Given the description of an element on the screen output the (x, y) to click on. 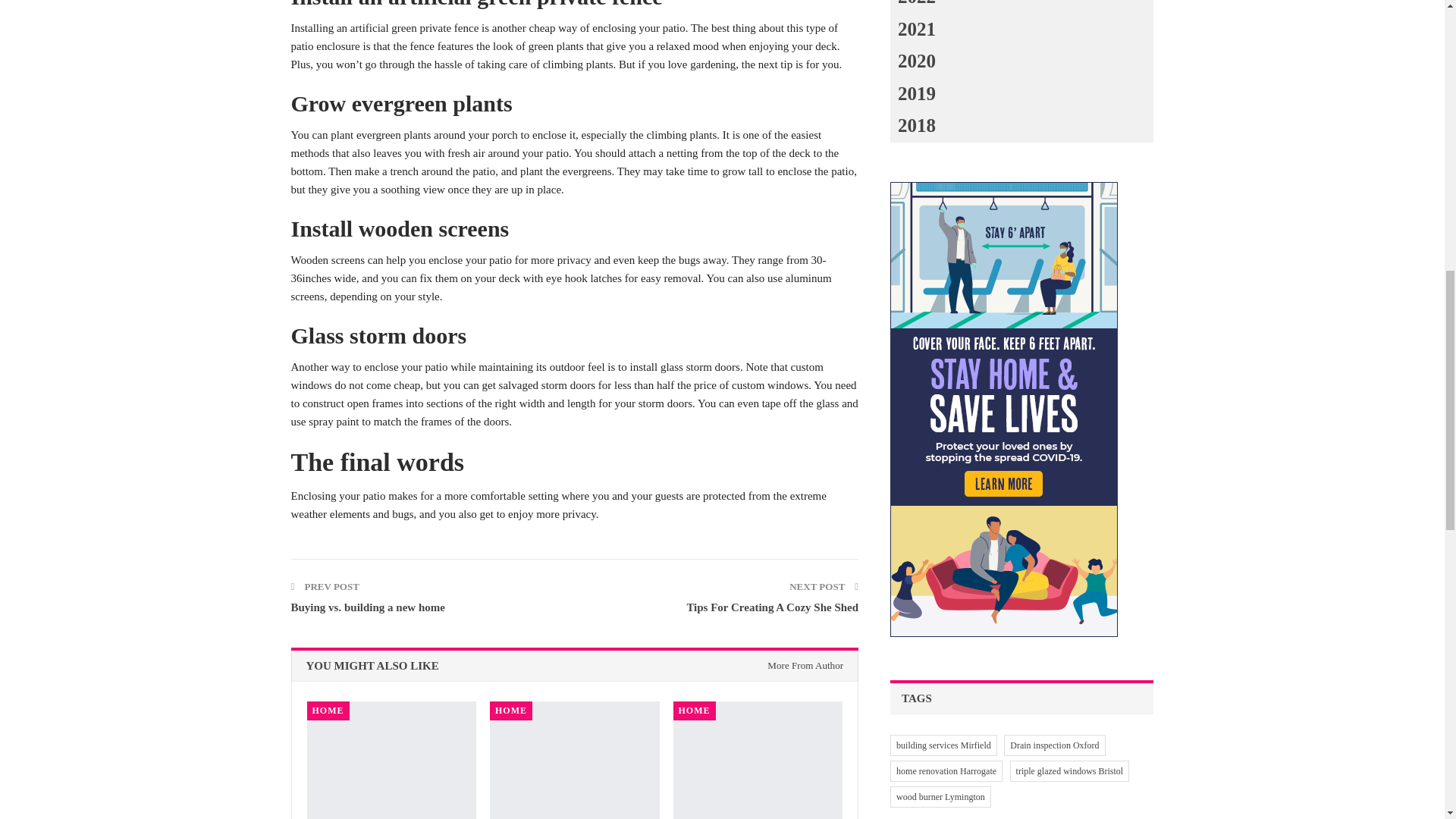
HOME (510, 710)
HOME (327, 710)
The Luxury and Performance of the Falcon 7X (574, 760)
HOME (694, 710)
Tips For Creating A Cozy She Shed (772, 607)
More From Author (800, 665)
YOU MIGHT ALSO LIKE (372, 665)
Buying vs. building a new home (368, 607)
